Given the description of an element on the screen output the (x, y) to click on. 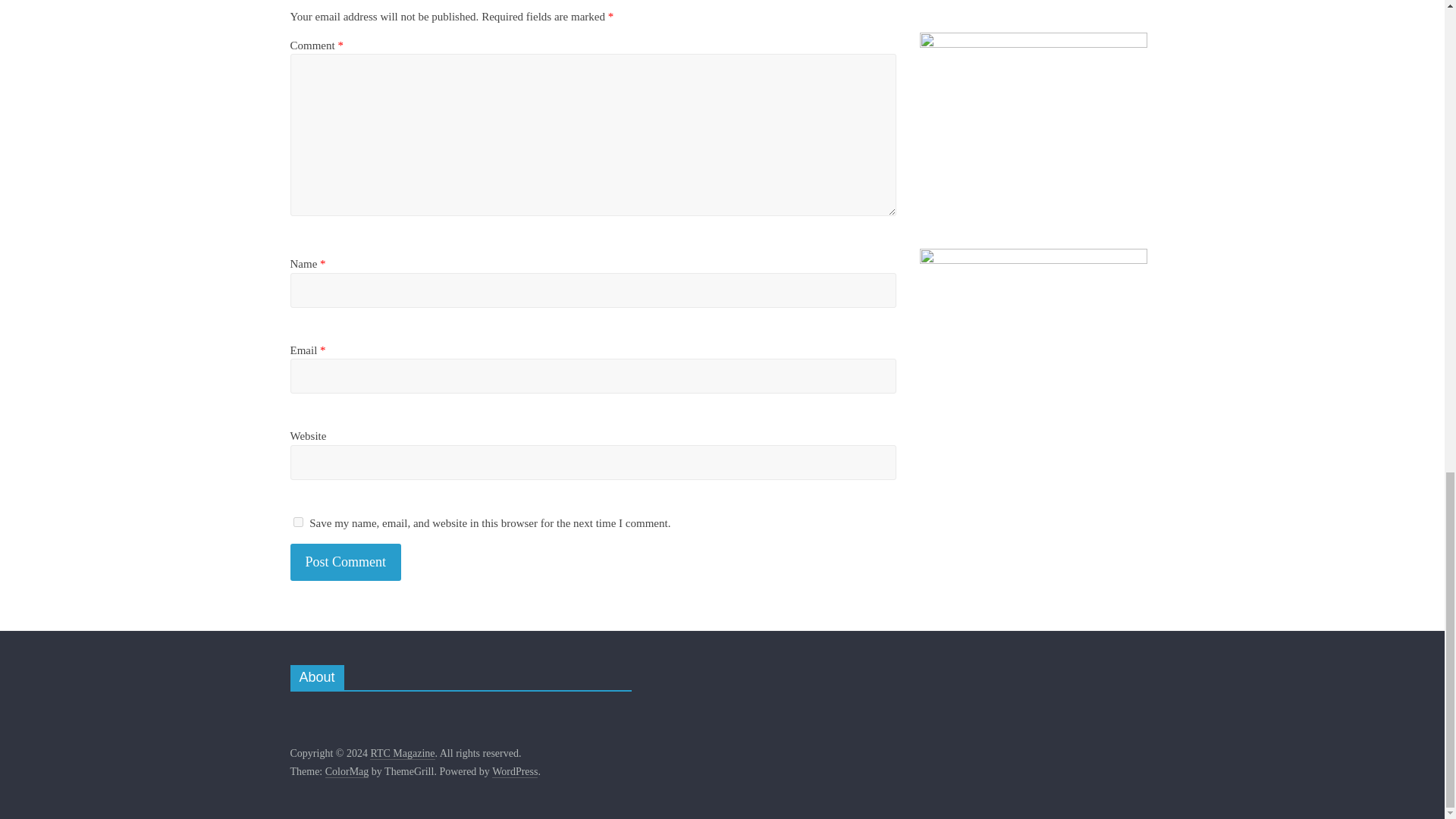
RTC Magazine (401, 753)
Post Comment (345, 561)
ColorMag (346, 771)
yes (297, 521)
WordPress (514, 771)
RTC Magazine (401, 753)
WordPress (514, 771)
Post Comment (345, 561)
ColorMag (346, 771)
